Given the description of an element on the screen output the (x, y) to click on. 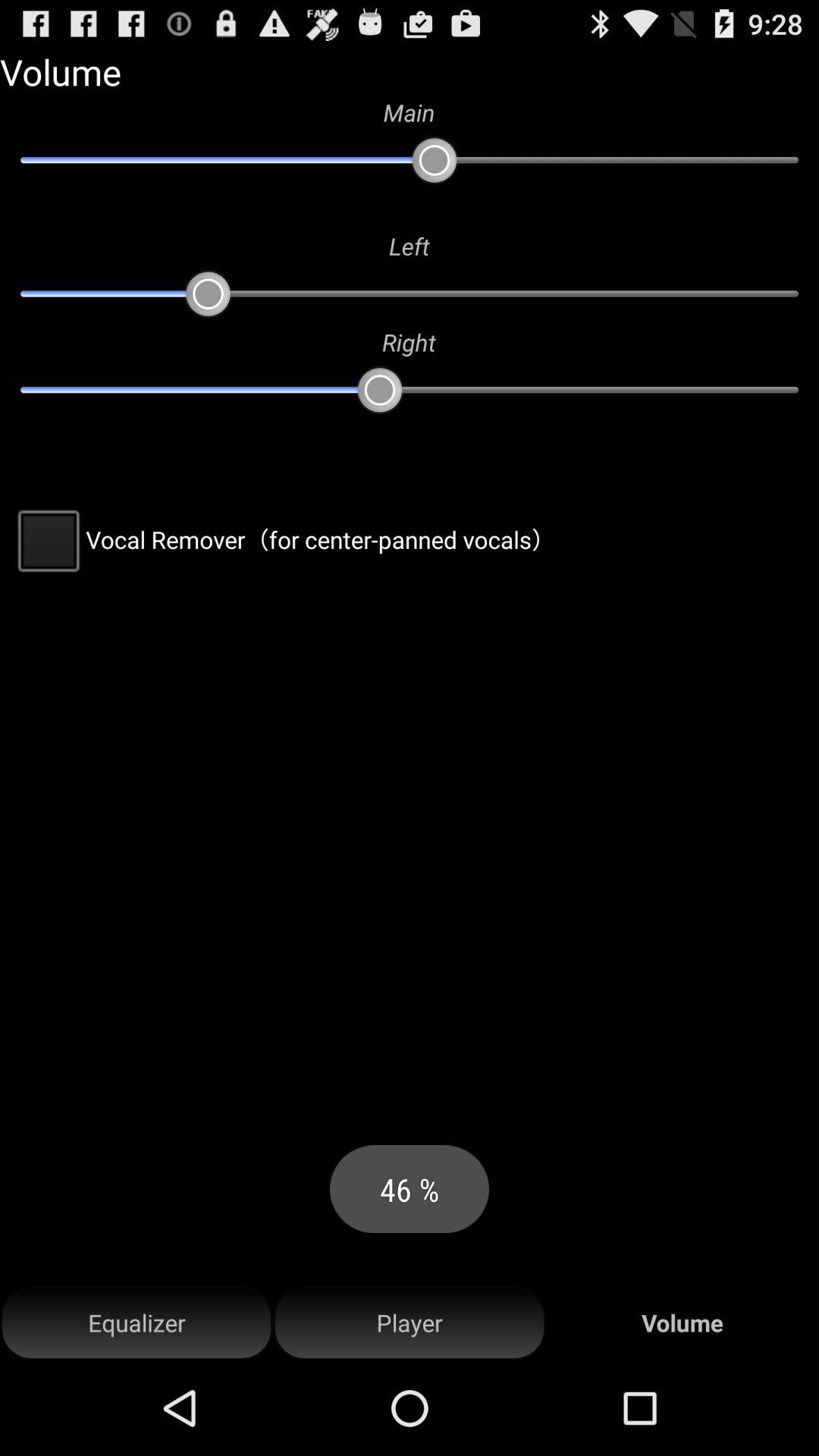
tap button at the bottom (409, 1323)
